Given the description of an element on the screen output the (x, y) to click on. 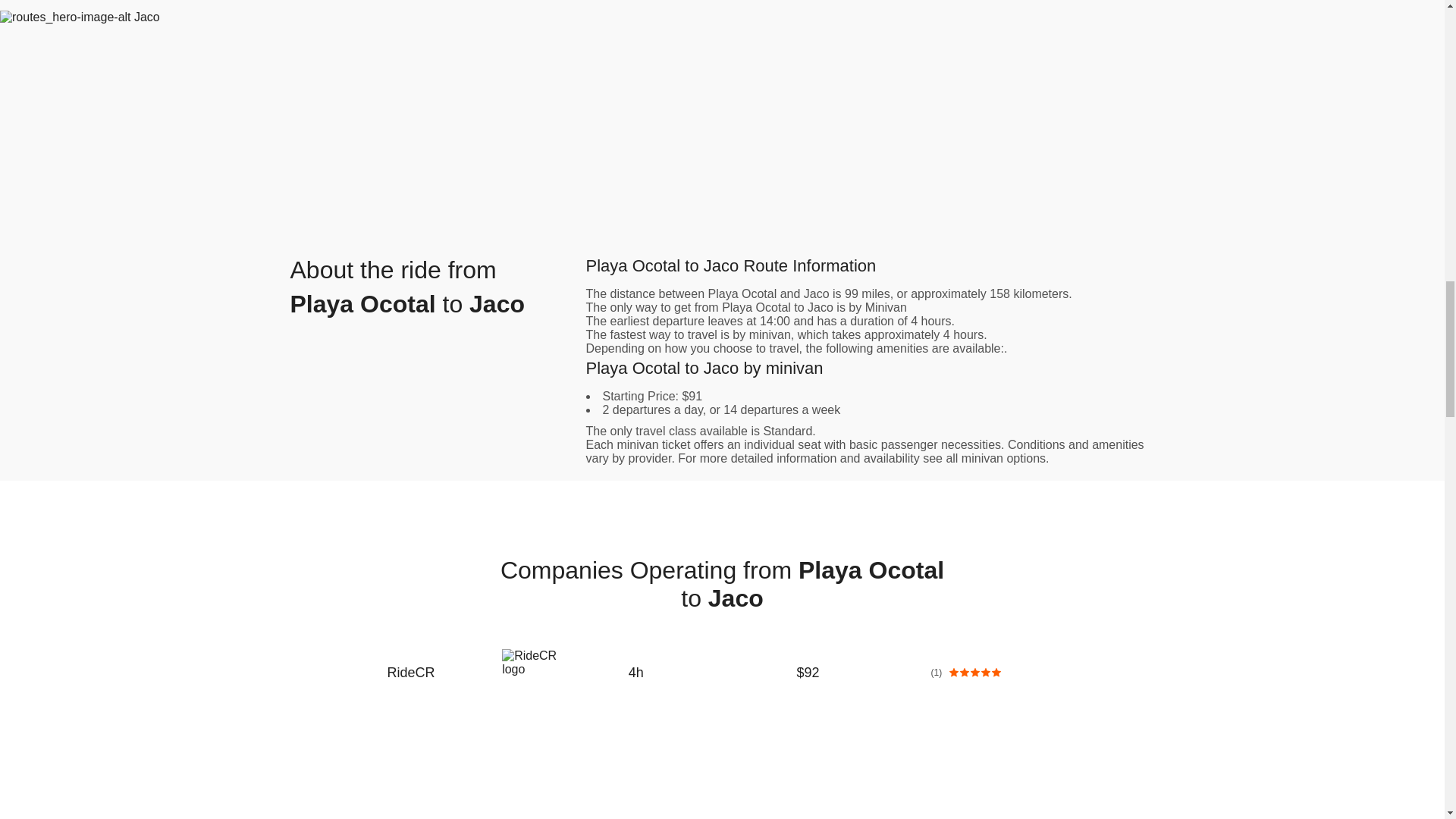
Playa Ocotal (742, 293)
minivan (981, 458)
RideCR (435, 672)
Jaco (816, 293)
